Given the description of an element on the screen output the (x, y) to click on. 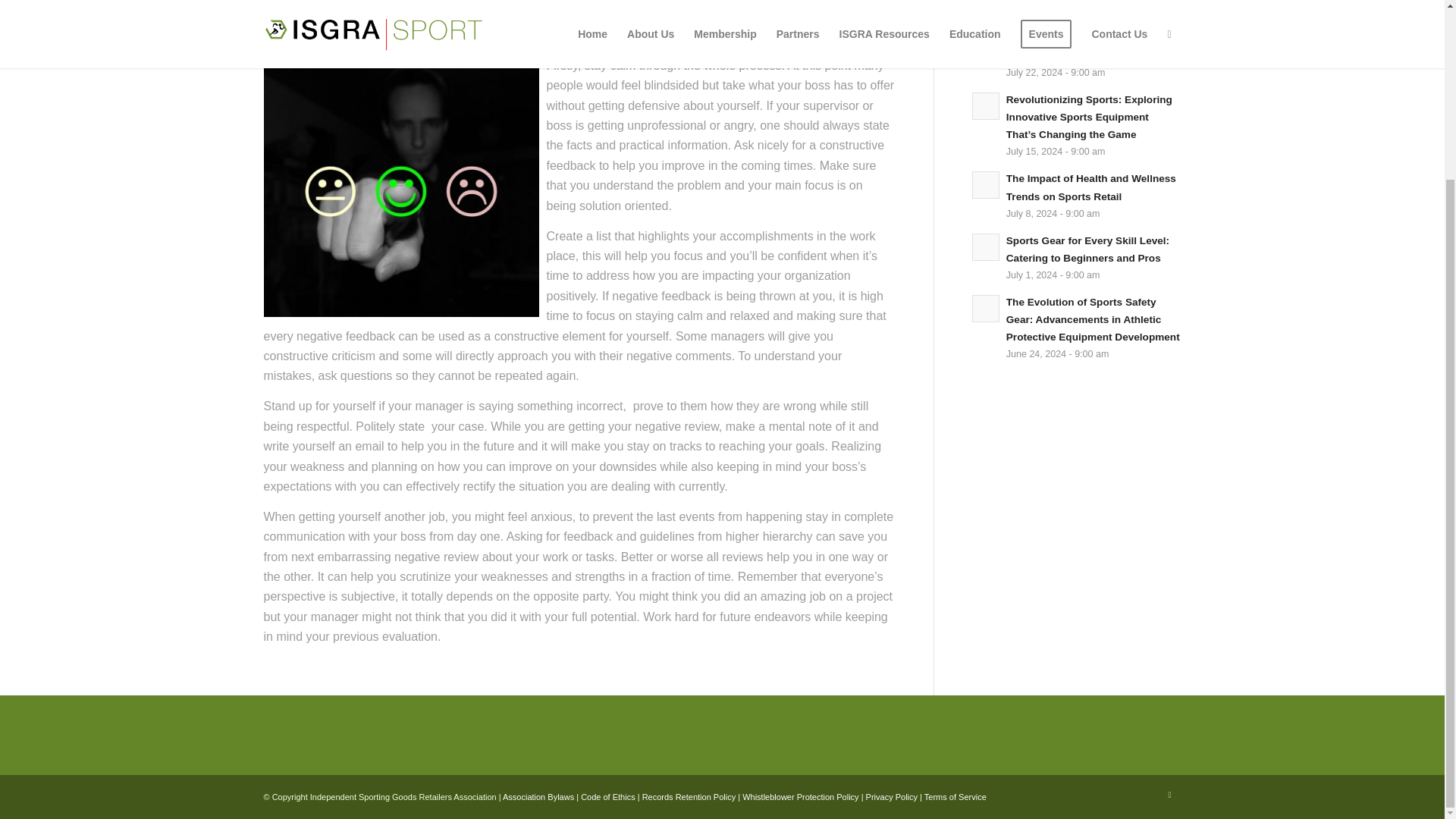
The Impact of Health and Wellness Trends on Sports Retail (1091, 186)
Code of Ethics (607, 796)
Privacy Policy (891, 796)
Whistleblower Protection Policy (800, 796)
Association Bylaws (537, 796)
